Given the description of an element on the screen output the (x, y) to click on. 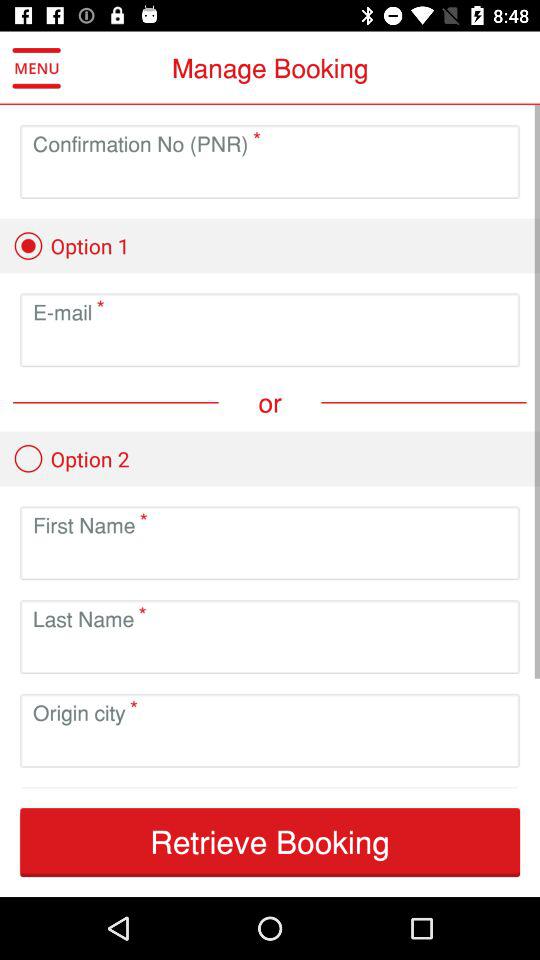
scroll to option 2 item (71, 458)
